Given the description of an element on the screen output the (x, y) to click on. 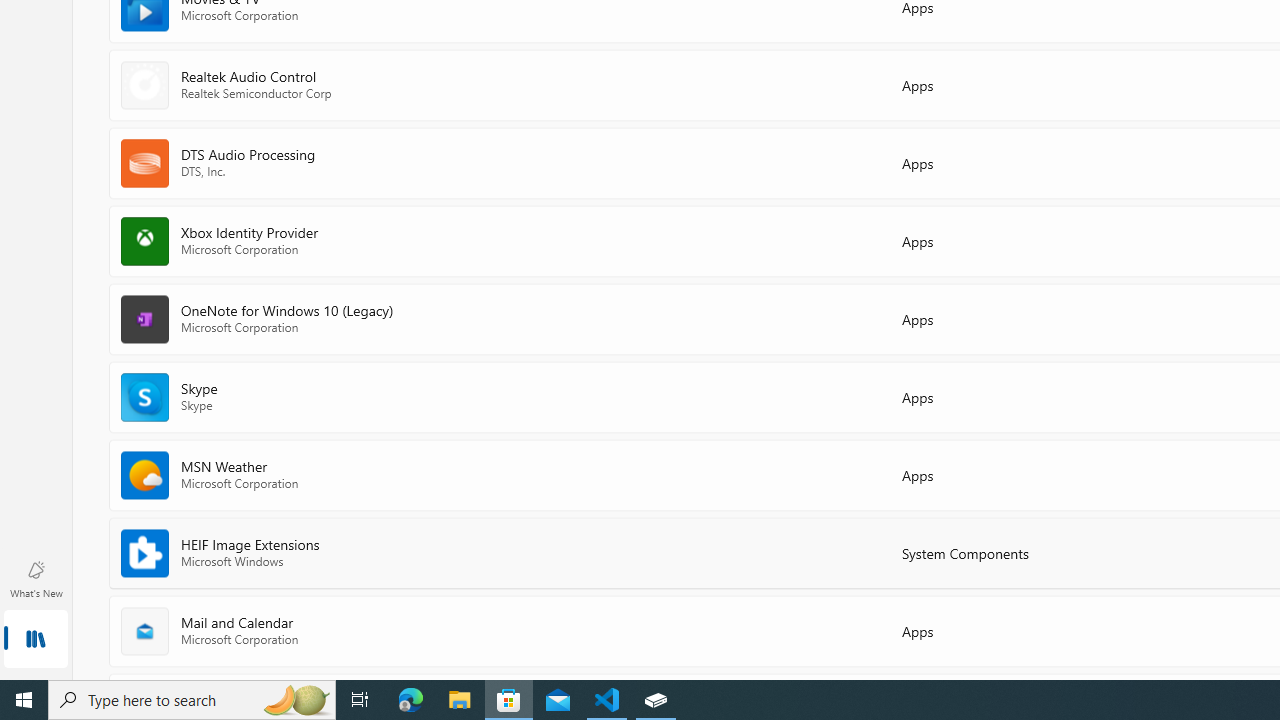
What's New (35, 578)
Library (35, 640)
